Given the description of an element on the screen output the (x, y) to click on. 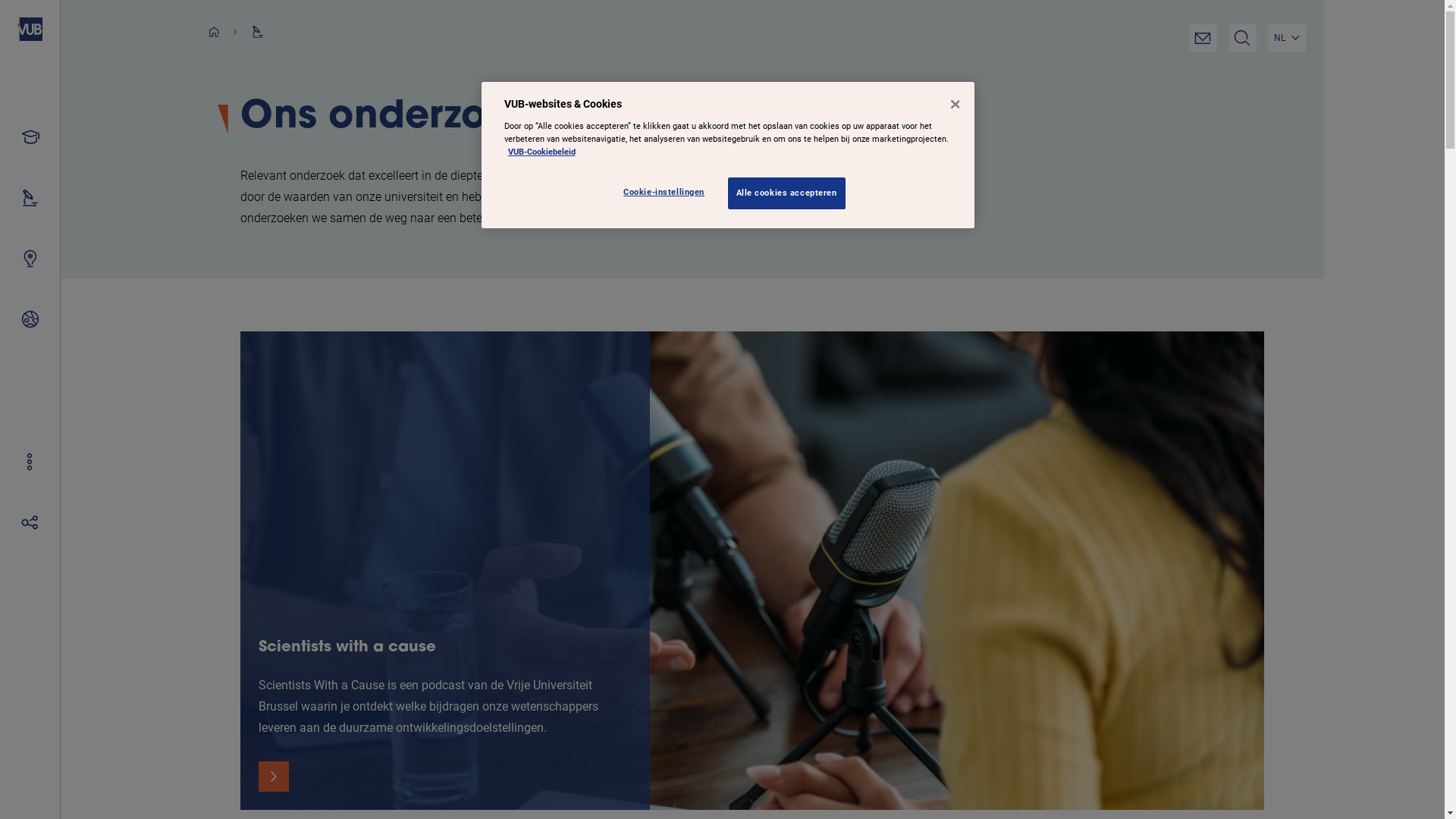
Overslaan en naar de inhoud gaan Element type: text (0, 0)
Cookie-instellingen Element type: text (667, 192)
VUB-Cookiebeleid Element type: text (541, 151)
Vrije Universiteit Brussel Element type: hover (29, 28)
Podcast Element type: hover (751, 570)
Alle cookies accepteren Element type: text (786, 193)
